Given the description of an element on the screen output the (x, y) to click on. 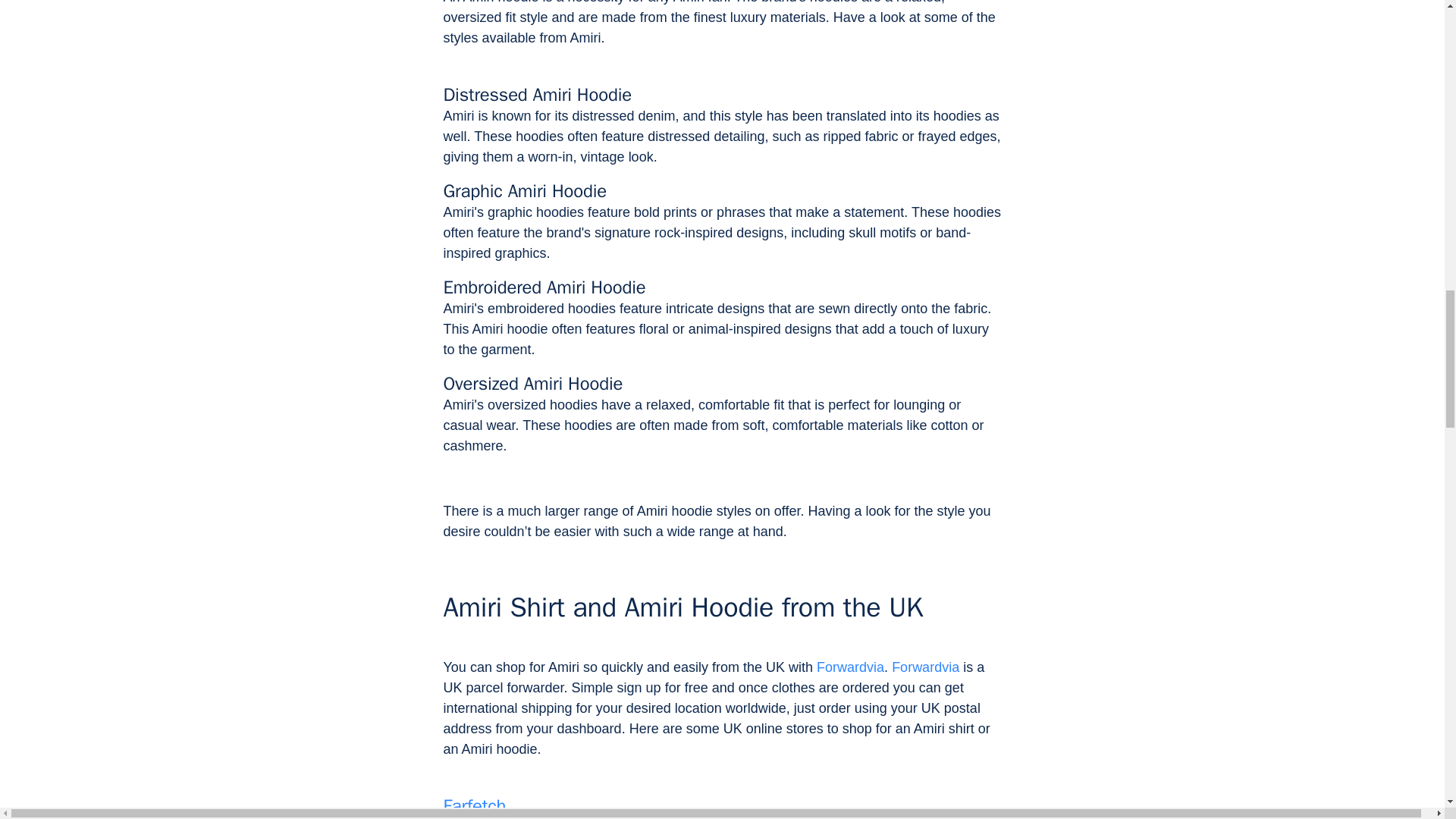
Forwardvia (849, 667)
Farfetch (473, 805)
Forwardvia (925, 667)
